Given the description of an element on the screen output the (x, y) to click on. 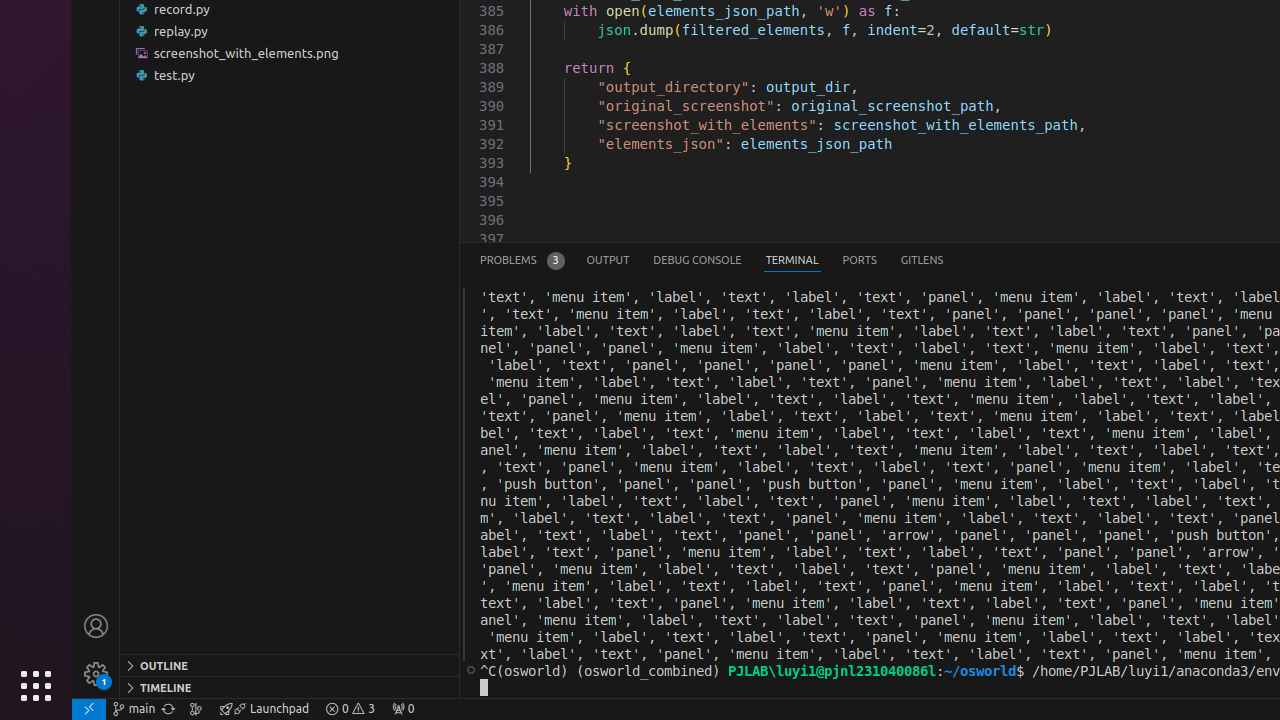
Manage - New Code update available. Element type: push-button (96, 674)
OSWorld (Git) - main, Checkout Branch/Tag... Element type: push-button (134, 709)
Problems (Ctrl+Shift+M) - Total 3 Problems Element type: page-tab (521, 260)
Ports Element type: page-tab (859, 260)
screenshot_with_elements.png Element type: tree-item (289, 53)
